Given the description of an element on the screen output the (x, y) to click on. 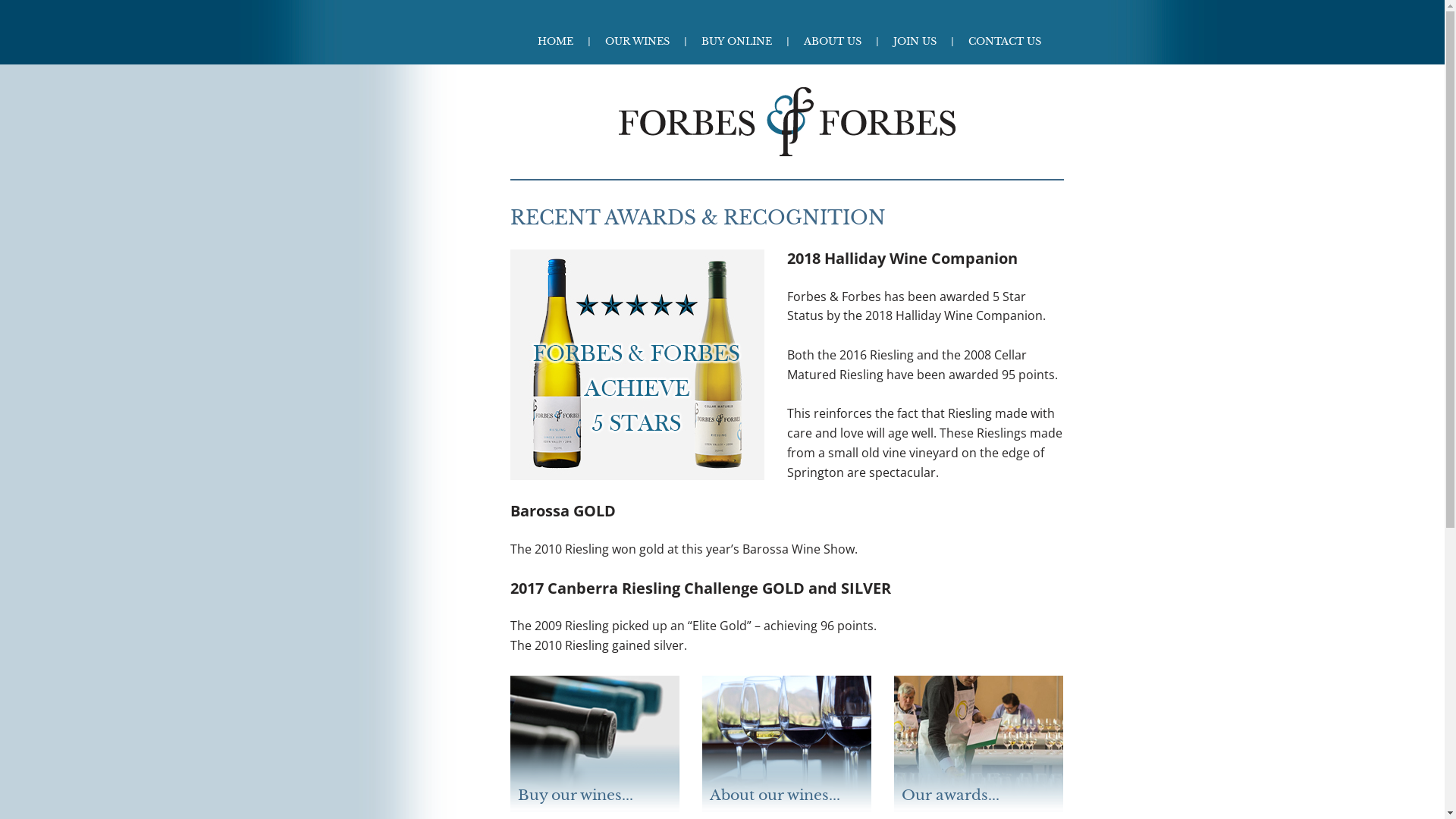
BUY ONLINE Element type: text (735, 40)
ABOUT US Element type: text (832, 40)
OUR WINES Element type: text (637, 40)
JOIN US Element type: text (914, 40)
CONTACT US Element type: text (1003, 40)
HOME Element type: text (554, 40)
